Given the description of an element on the screen output the (x, y) to click on. 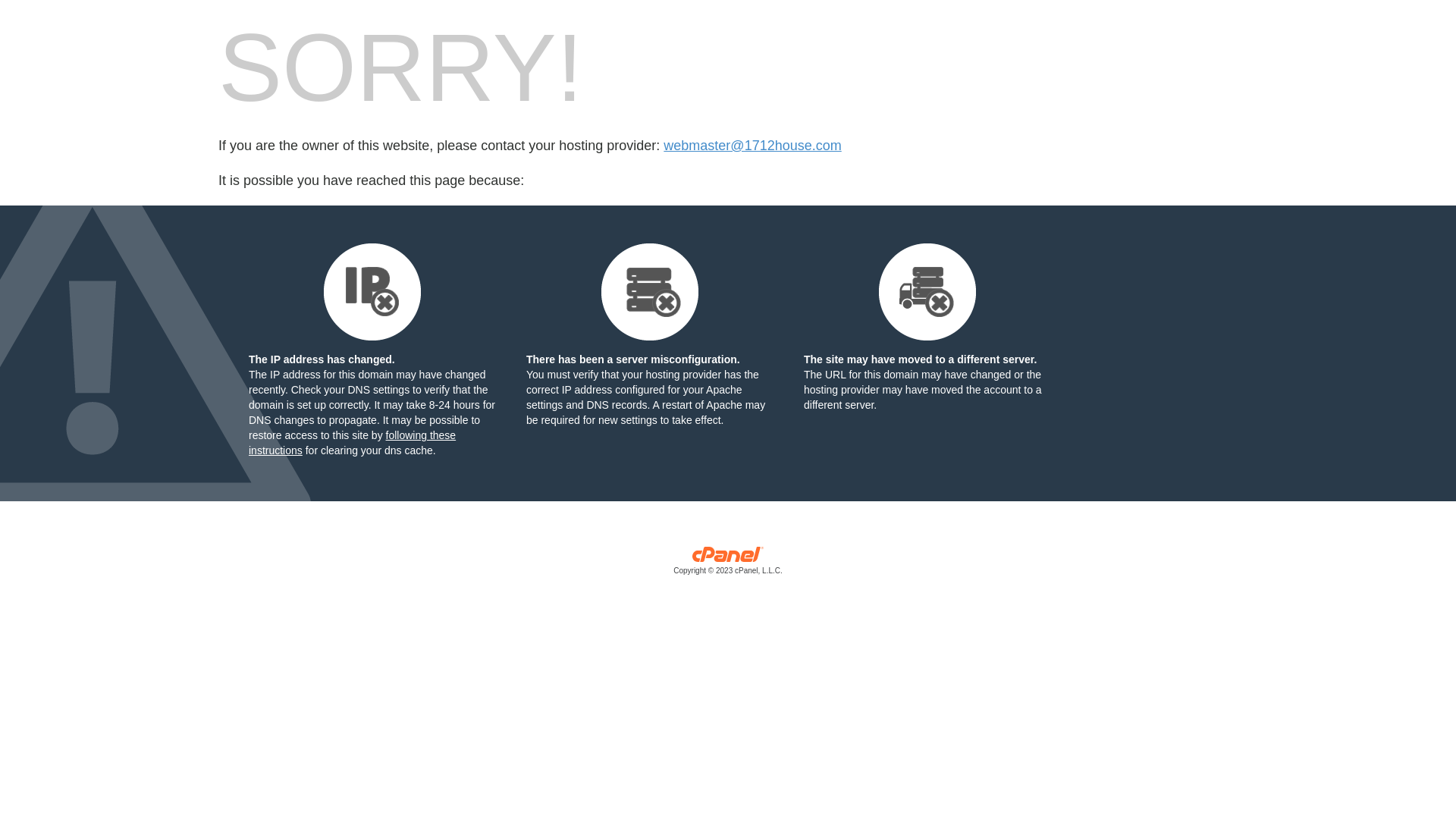
webmaster@1712house.com Element type: text (751, 145)
following these instructions Element type: text (351, 442)
